Given the description of an element on the screen output the (x, y) to click on. 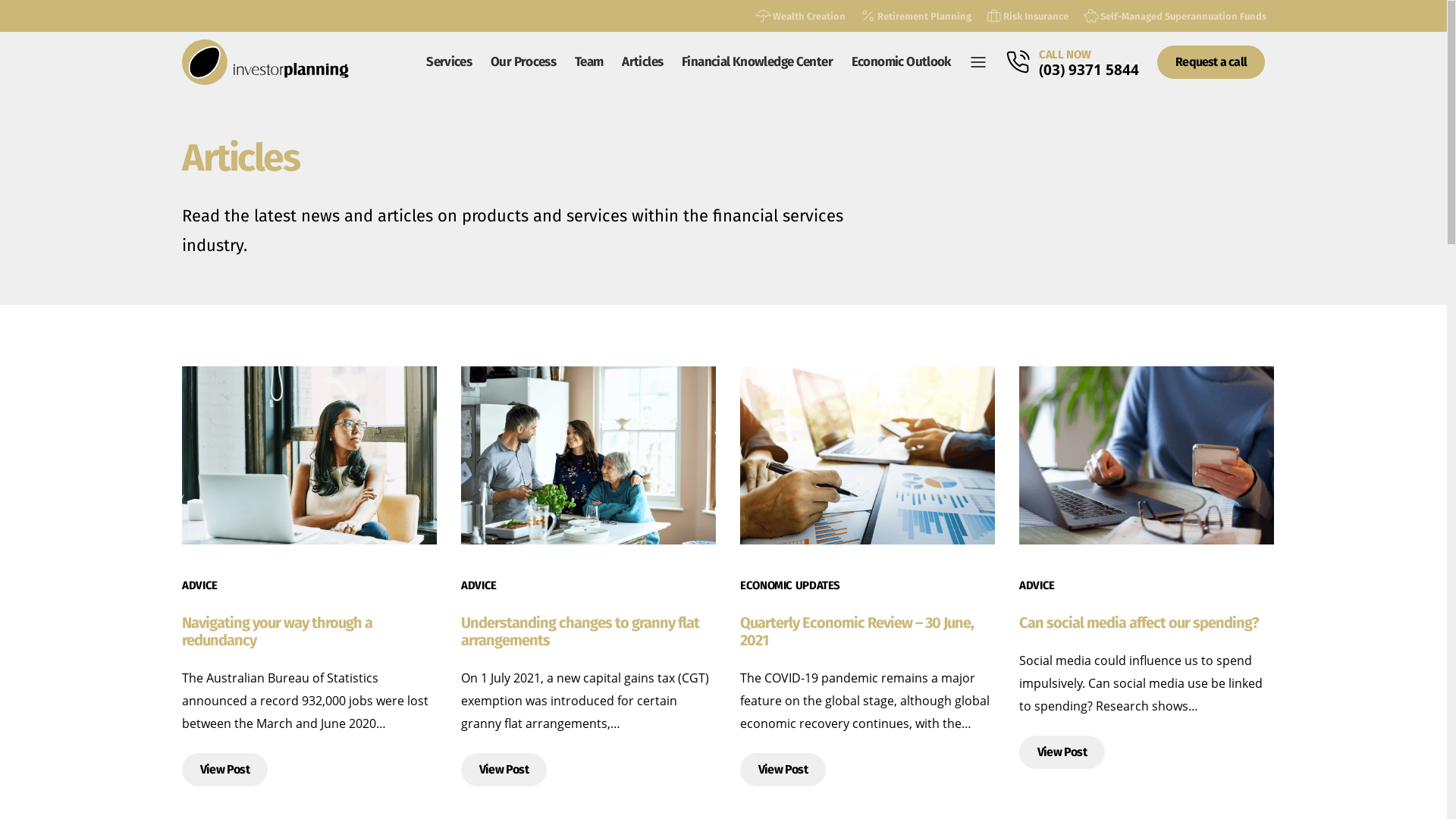
View Post Element type: text (1061, 751)
Wealth Creation Element type: text (800, 15)
Articles Element type: text (642, 61)
ADVICE Element type: text (1036, 585)
Team Element type: text (588, 61)
View Post Element type: text (224, 769)
ADVICE Element type: text (199, 585)
Can social media affect our spending? Element type: text (1138, 622)
Risk Insurance Element type: text (1027, 15)
CALL NOW
(03) 9371 5844 Element type: text (1088, 62)
Understanding changes to granny flat arrangements Element type: text (580, 631)
Investor Planning
Financial advice made simple Element type: text (265, 61)
ECONOMIC UPDATES Element type: text (790, 585)
View Post Element type: text (503, 769)
Self-Managed Superannuation Funds Element type: text (1175, 15)
Economic Outlook Element type: text (900, 61)
Retirement Planning Element type: text (916, 15)
View Post Element type: text (782, 769)
Services Element type: text (449, 61)
Our Process Element type: text (523, 61)
Navigating your way through a redundancy Element type: text (277, 631)
Request a call Element type: text (1210, 61)
Menu Element type: text (978, 61)
Financial Knowledge Center Element type: text (757, 61)
ADVICE Element type: text (478, 585)
